Given the description of an element on the screen output the (x, y) to click on. 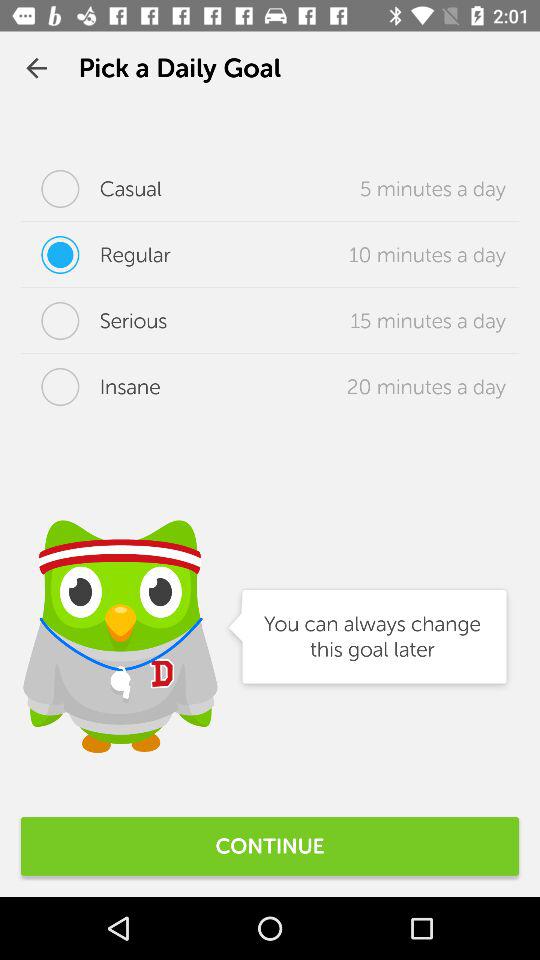
open insane icon (90, 387)
